Given the description of an element on the screen output the (x, y) to click on. 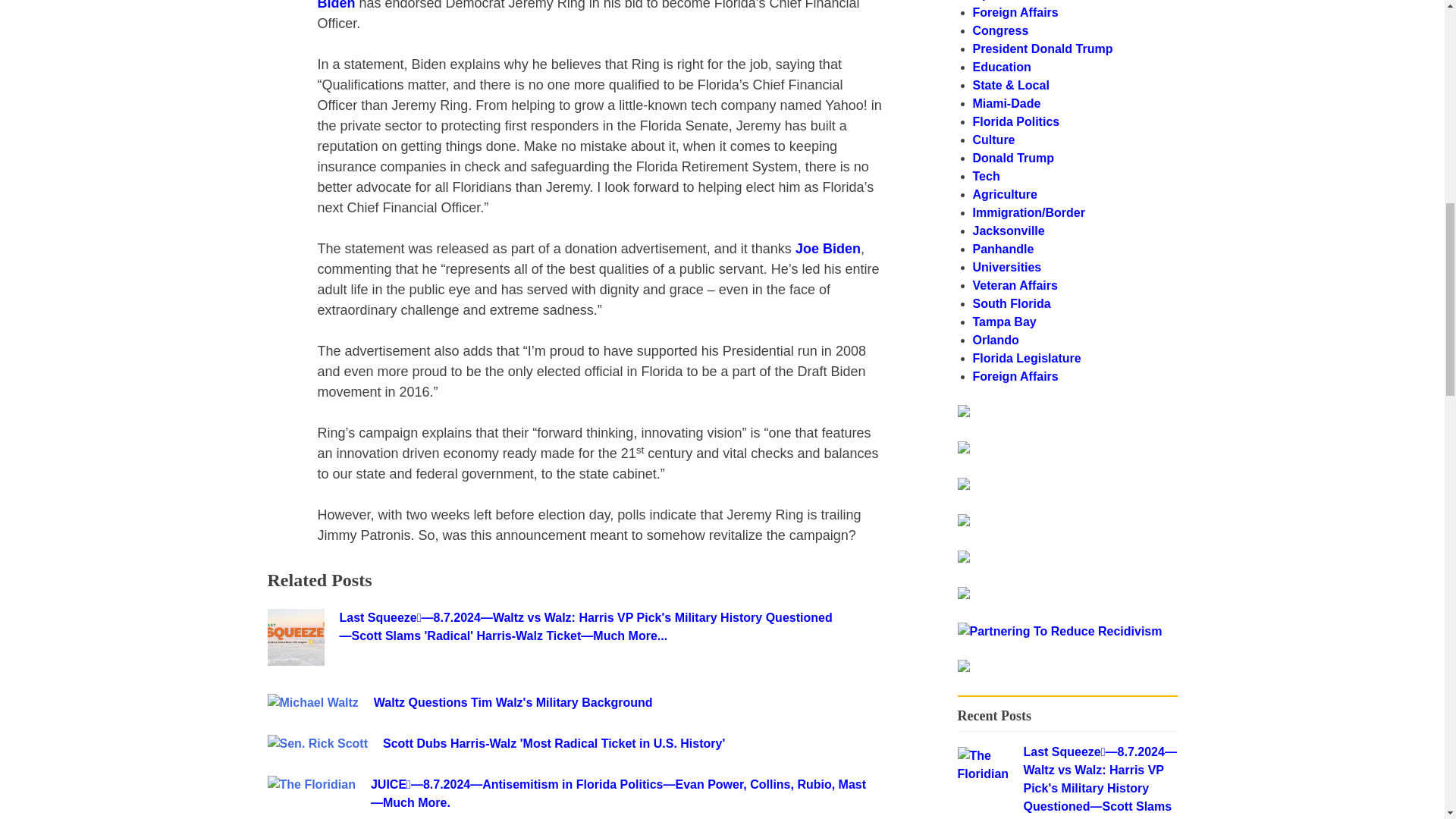
Waltz Questions Tim Walz's Military Background (624, 702)
Partnering To Reduce Recidivism (1058, 631)
Partnering To Reduce Recidivism (962, 412)
Partnering To Reduce Recidivism (1058, 631)
Search (1138, 419)
Scott Dubs Harris-Walz 'Most Radical Ticket in U.S. History' (632, 743)
Search (1138, 419)
Partnering To Reduce Recidivism (962, 667)
Joe Biden (827, 248)
Joe Biden (590, 5)
